Given the description of an element on the screen output the (x, y) to click on. 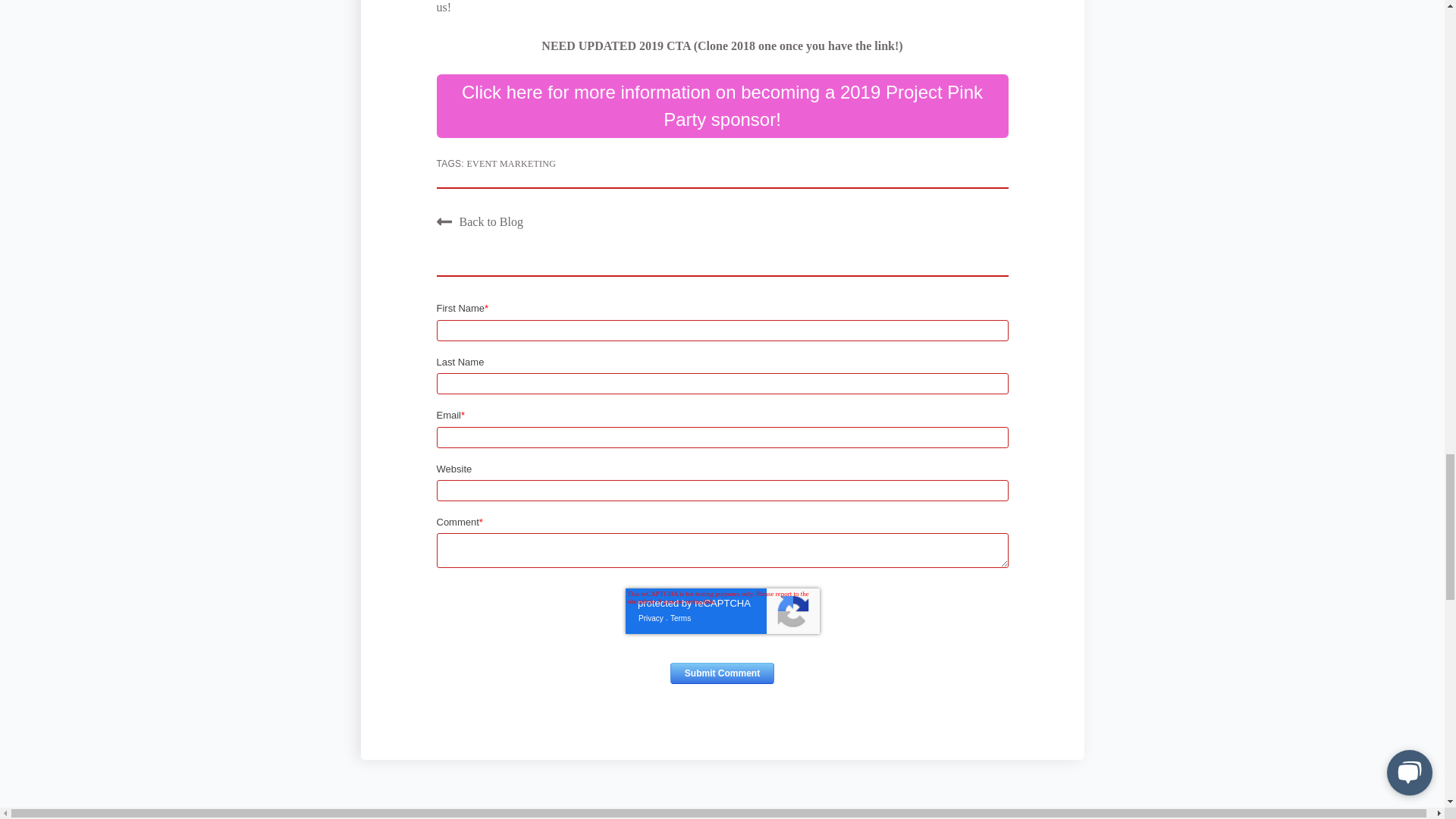
reCAPTCHA (721, 610)
Submit Comment (721, 672)
